Given the description of an element on the screen output the (x, y) to click on. 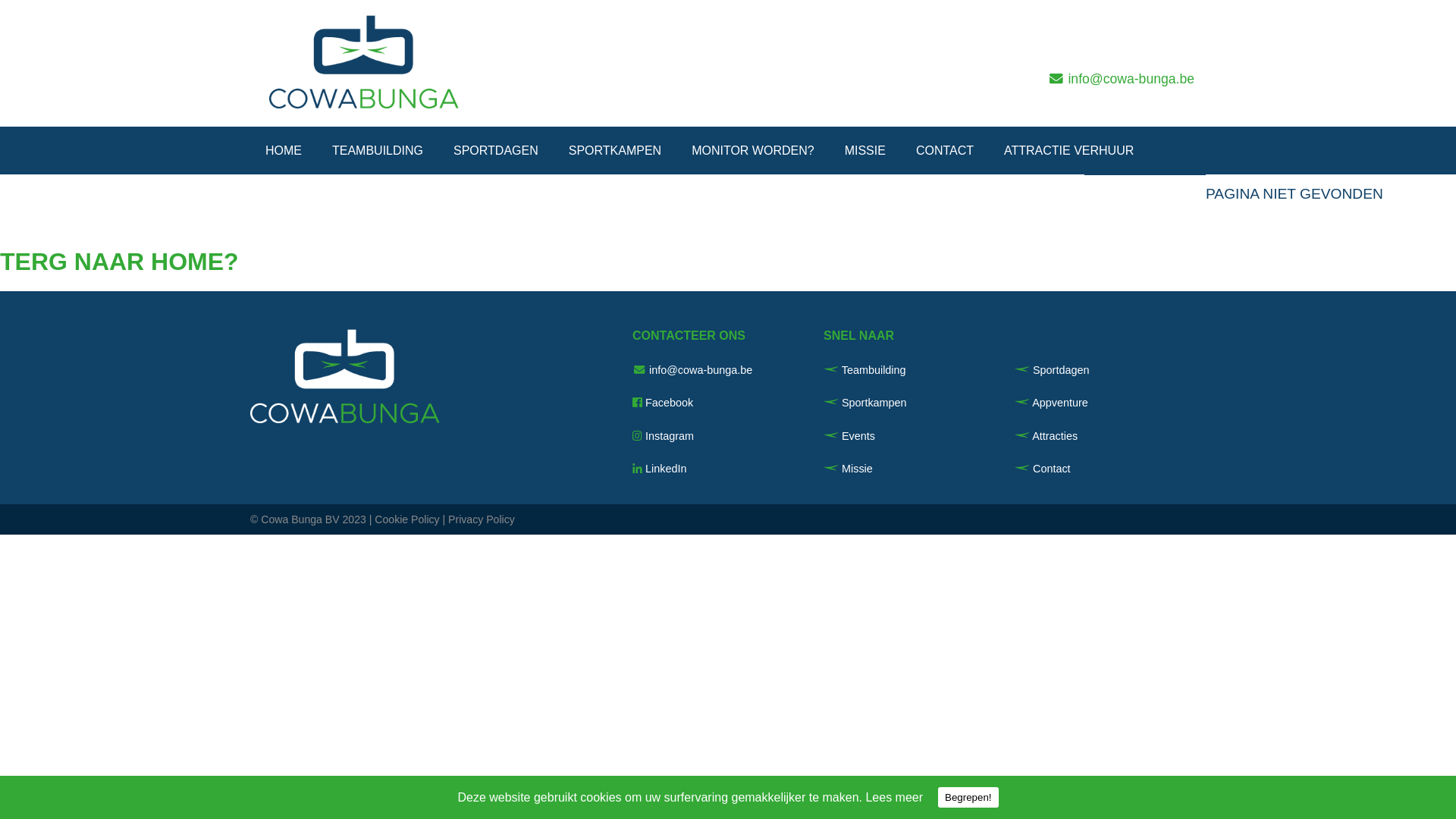
CONTACT Element type: text (944, 150)
Cookie Policy Element type: text (406, 519)
Privacy Policy Element type: text (481, 519)
Appventure Element type: text (1051, 402)
Missie Element type: text (847, 468)
MISSIE Element type: text (864, 150)
Events Element type: text (849, 435)
Teambuilding Element type: text (864, 370)
LinkedIn Element type: text (665, 468)
SPORTKAMPEN Element type: text (614, 150)
Begrepen! Element type: text (968, 797)
ATTRACTIE VERHUUR Element type: text (1068, 150)
Instagram Element type: text (669, 435)
TEAMBUILDING Element type: text (377, 150)
Contact Element type: text (1042, 468)
Sportkampen Element type: text (864, 402)
HOME Element type: text (283, 150)
TERG NAAR HOME? Element type: text (119, 261)
info@cowa-bunga.be Element type: text (1130, 78)
info@cowa-bunga.be Element type: text (700, 370)
Attracties Element type: text (1045, 435)
0 ARTIKELEN Element type: text (1144, 197)
Sportdagen Element type: text (1051, 370)
SPORTDAGEN Element type: text (495, 150)
MONITOR WORDEN? Element type: text (752, 150)
Lees meer Element type: text (893, 796)
Facebook Element type: text (669, 402)
